Given the description of an element on the screen output the (x, y) to click on. 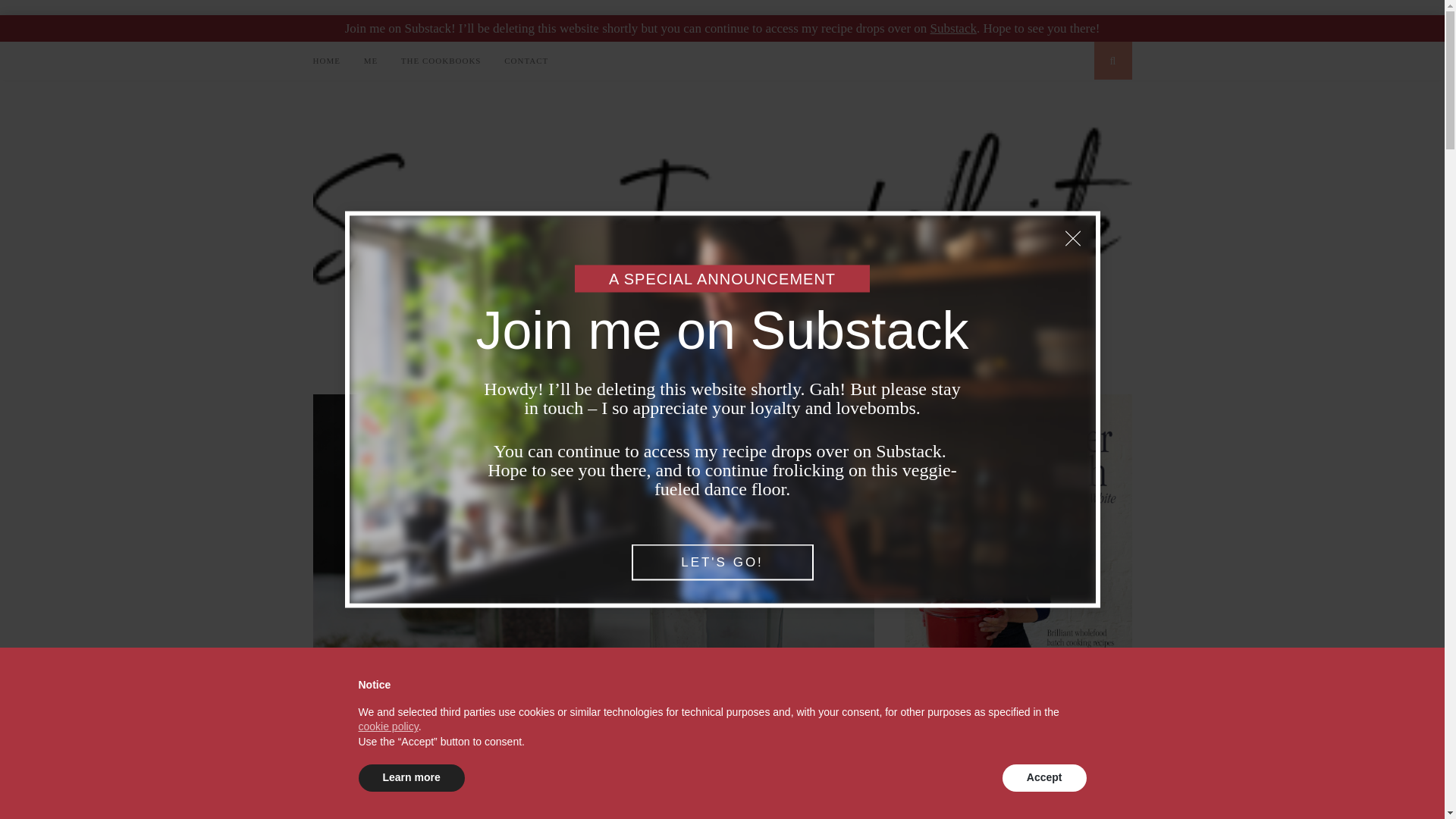
THE COOKBOOKS (441, 60)
X FOR FREEZER X (709, 795)
SIDES (552, 795)
CONTACT (525, 60)
Substack (953, 28)
